Given the description of an element on the screen output the (x, y) to click on. 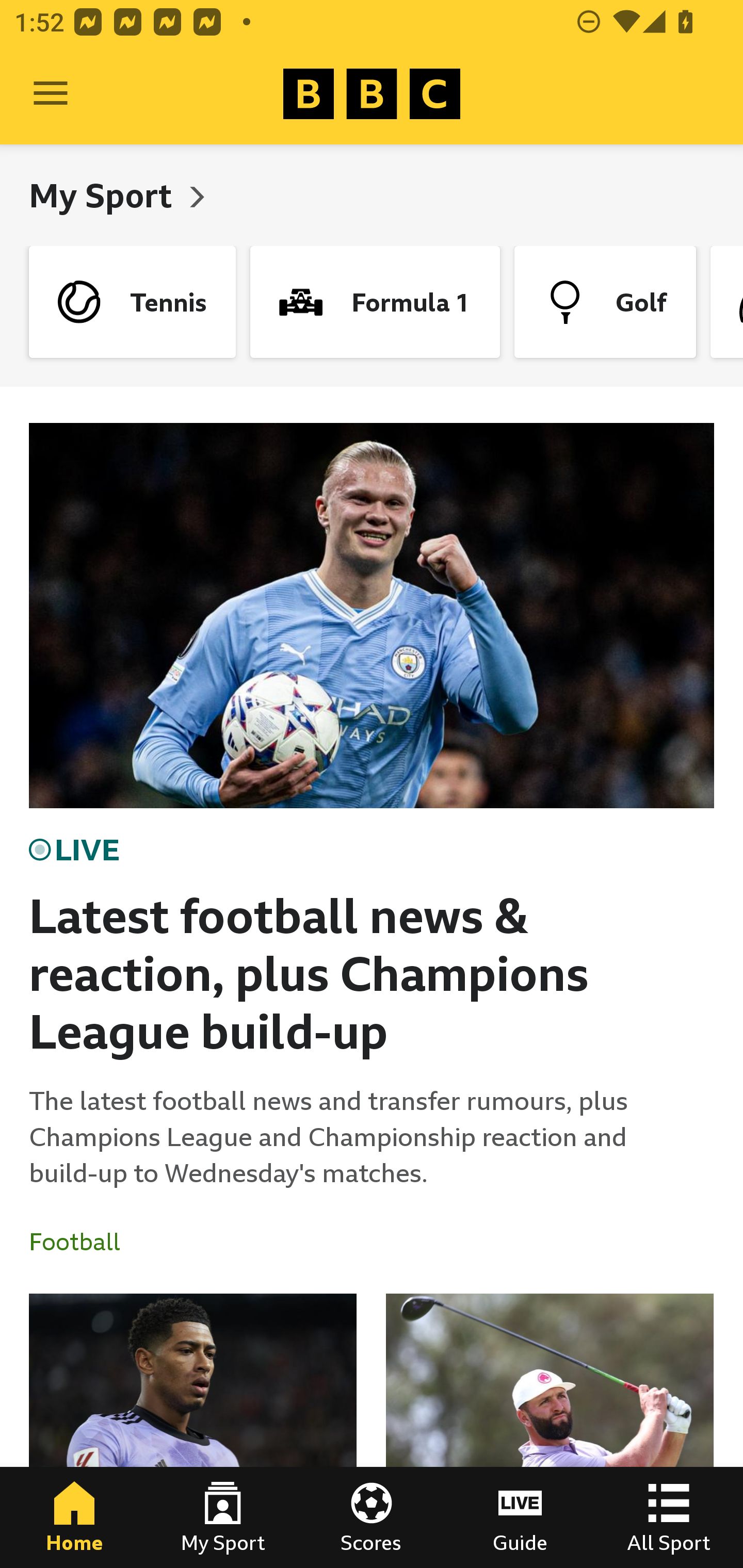
Open Menu (50, 93)
My Sport (104, 195)
Football In the section Football (81, 1241)
Real midfielder Bellingham banned for two games (192, 1430)
My Sport (222, 1517)
Scores (371, 1517)
Guide (519, 1517)
All Sport (668, 1517)
